Given the description of an element on the screen output the (x, y) to click on. 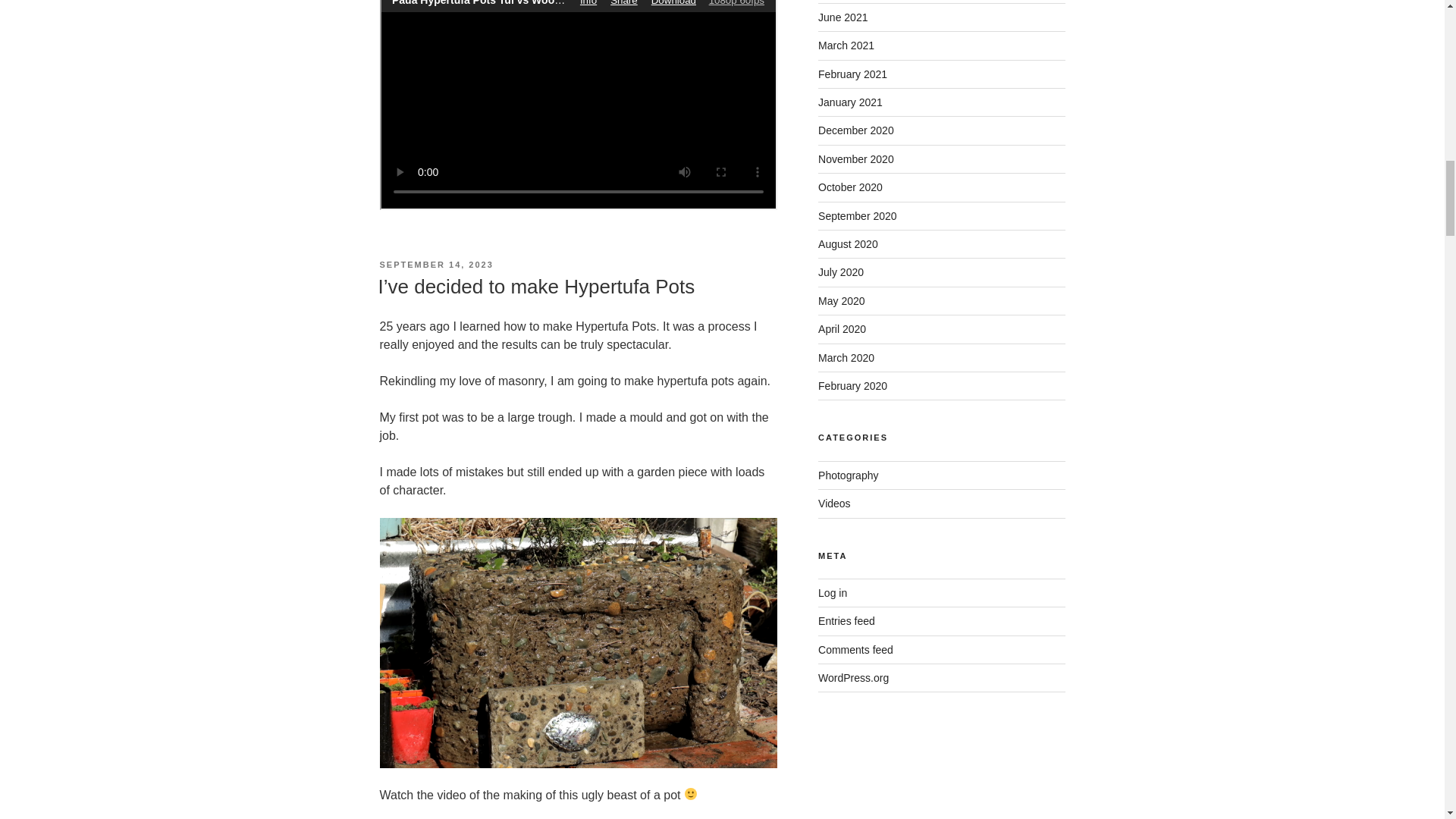
SEPTEMBER 14, 2023 (435, 264)
